Given the description of an element on the screen output the (x, y) to click on. 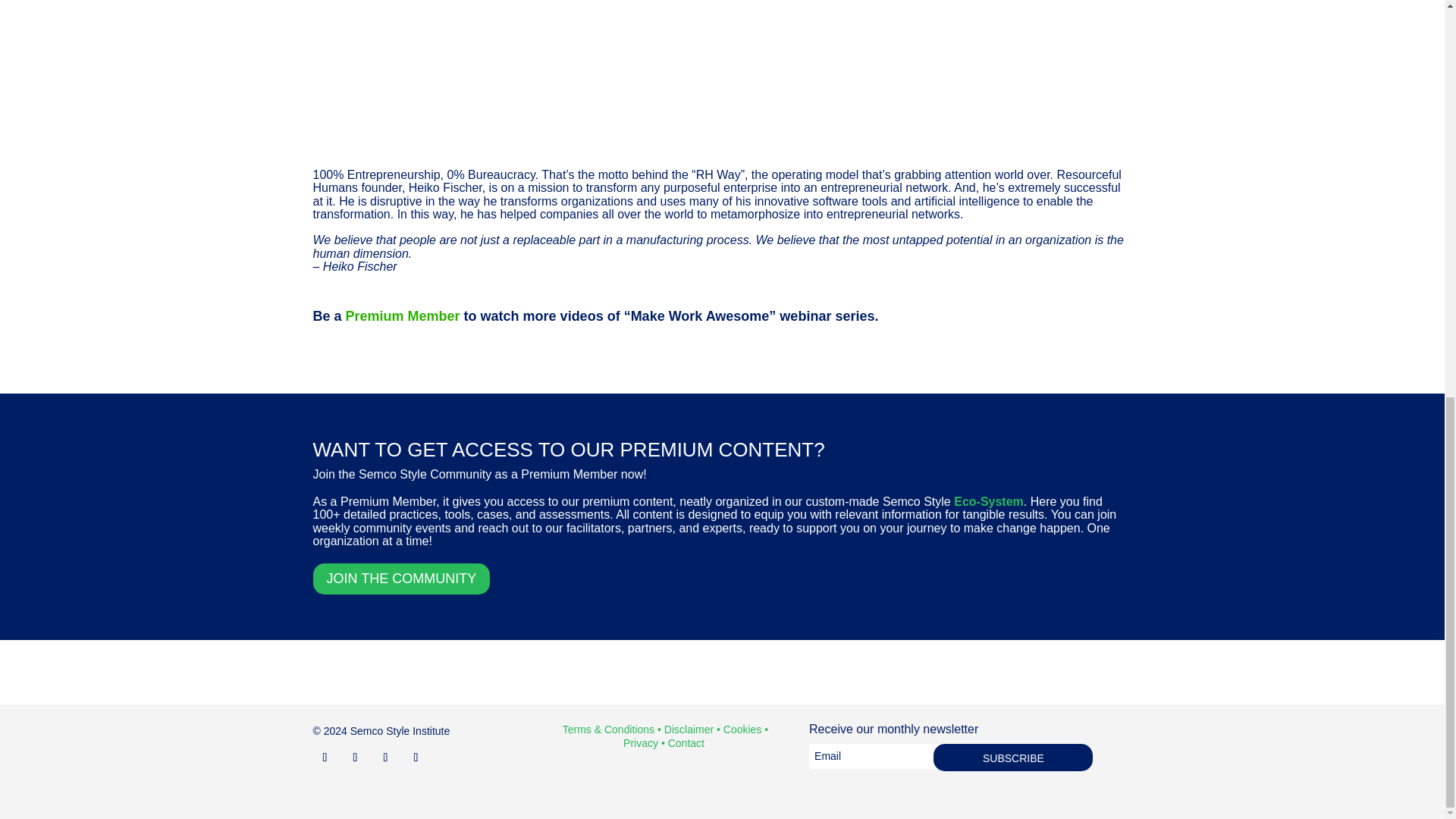
Privacy (640, 743)
Eco-System (988, 501)
Follow on Facebook (384, 757)
Follow on X (354, 757)
Follow on Youtube (415, 757)
SUBSCRIBE (1013, 757)
JOIN THE COMMUNITY (401, 578)
Contact (686, 743)
Disclaimer (688, 729)
